Given the description of an element on the screen output the (x, y) to click on. 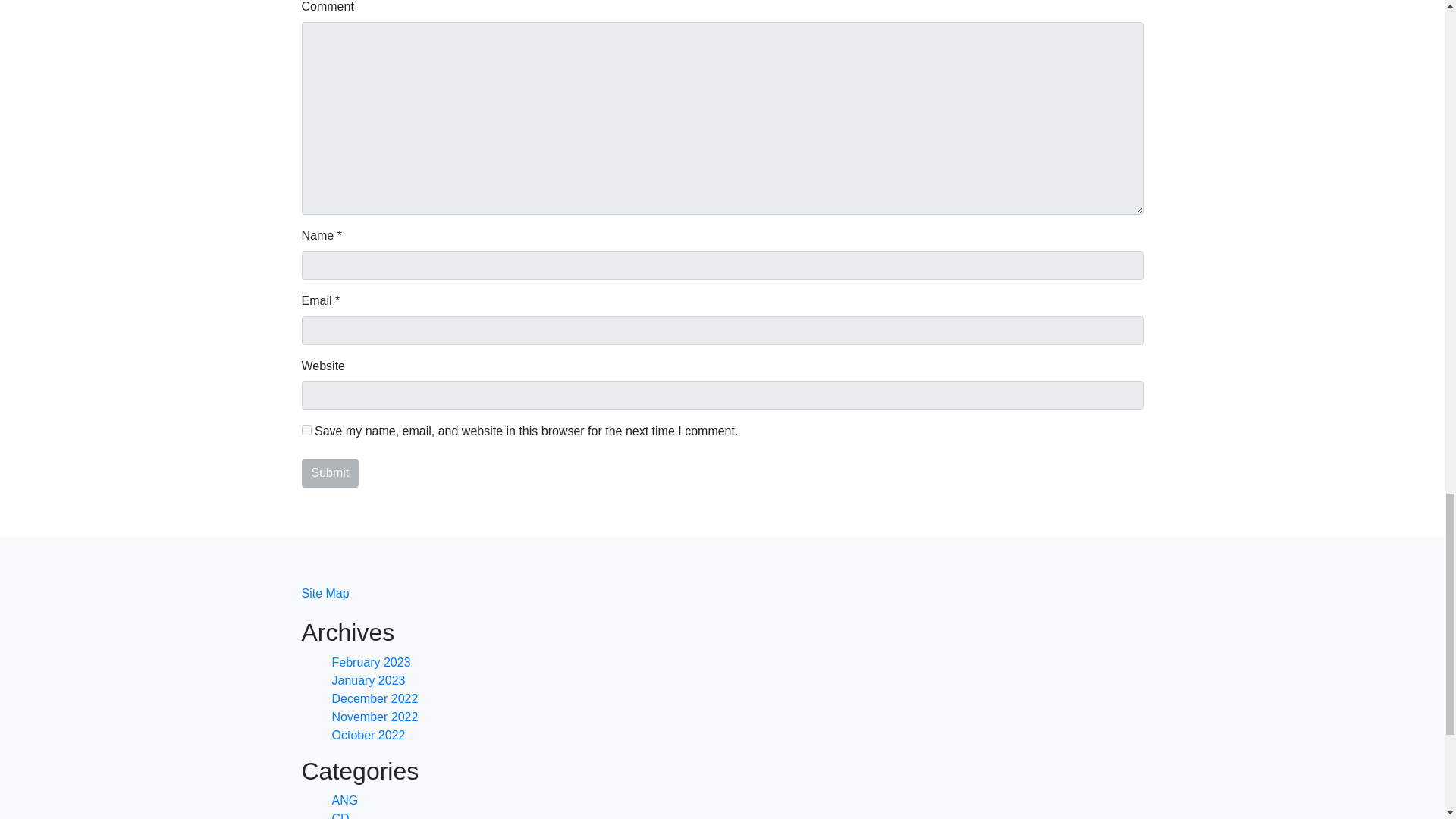
November 2022 (375, 716)
ANG (344, 799)
October 2022 (368, 735)
yes (306, 429)
January 2023 (368, 680)
Site Map (325, 593)
February 2023 (370, 662)
FAQ and guides for all Congo Betting sites (340, 815)
Submit (330, 472)
December 2022 (375, 698)
CD (340, 815)
Submit (330, 472)
